Given the description of an element on the screen output the (x, y) to click on. 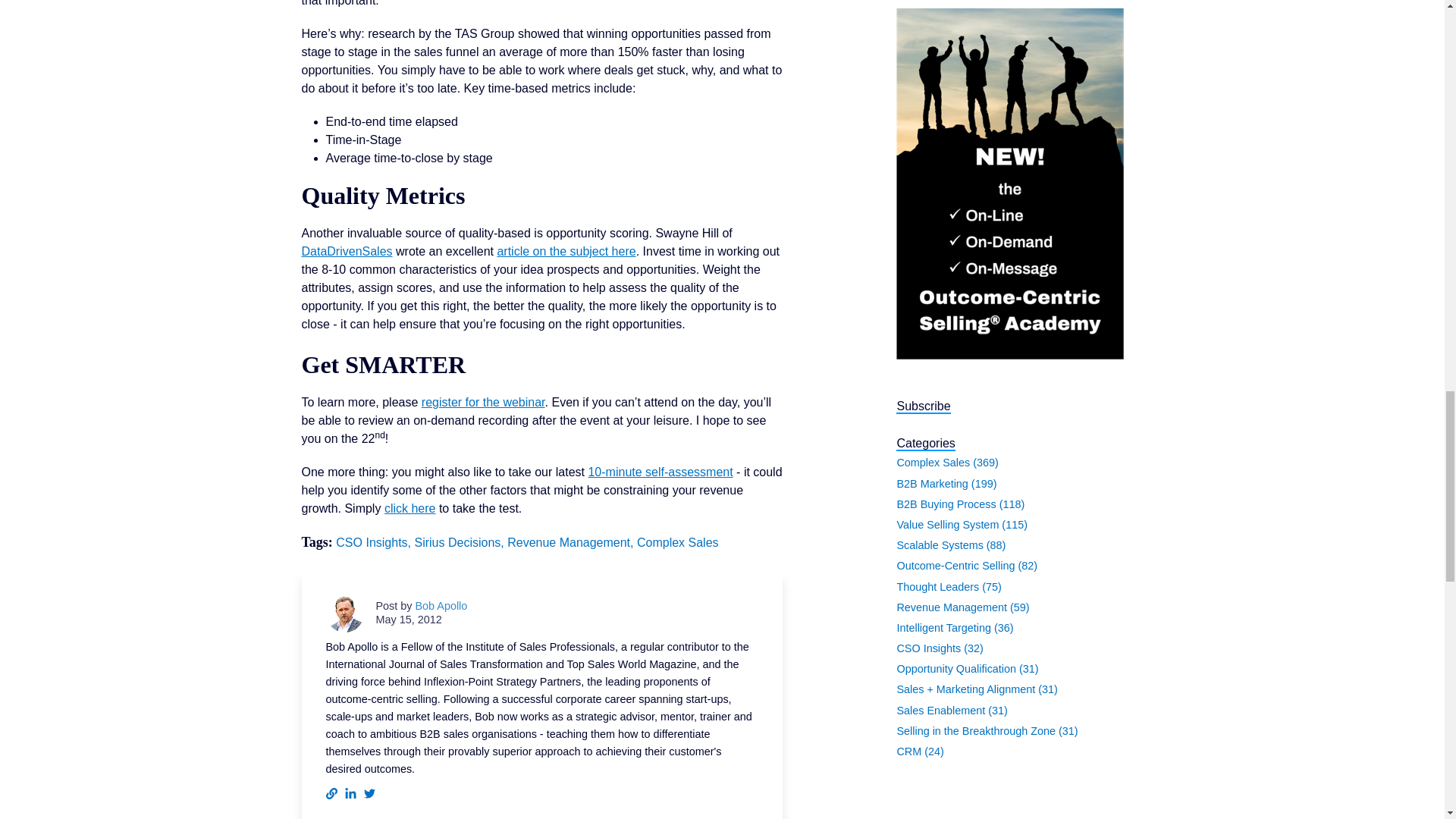
article on the subject here (565, 250)
click here (409, 508)
10-minute self-assessment (660, 472)
Sirius Decisions, (459, 542)
Follow me on my website (331, 793)
register for the webinar (483, 401)
DataDrivenSales (347, 250)
register for the webinar (483, 401)
article on the subject here (565, 250)
Revenue Management, (571, 542)
